Given the description of an element on the screen output the (x, y) to click on. 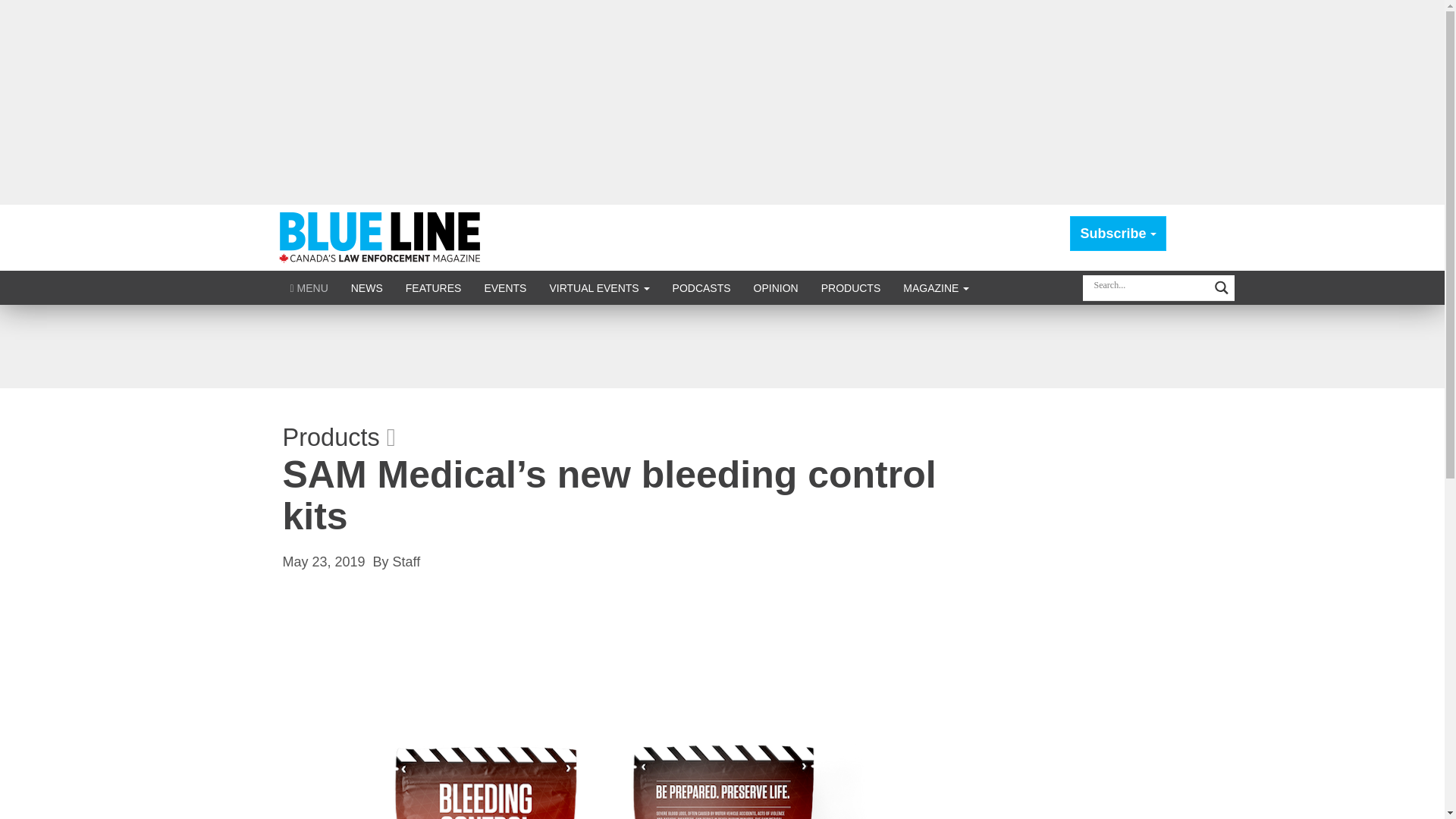
3rd party ad content (721, 346)
OPINION (775, 287)
FEATURES (433, 287)
VIRTUAL EVENTS (599, 287)
Subscribe (1118, 233)
EVENTS (504, 287)
Blue Line (381, 236)
PRODUCTS (850, 287)
MAGAZINE (935, 287)
